Given the description of an element on the screen output the (x, y) to click on. 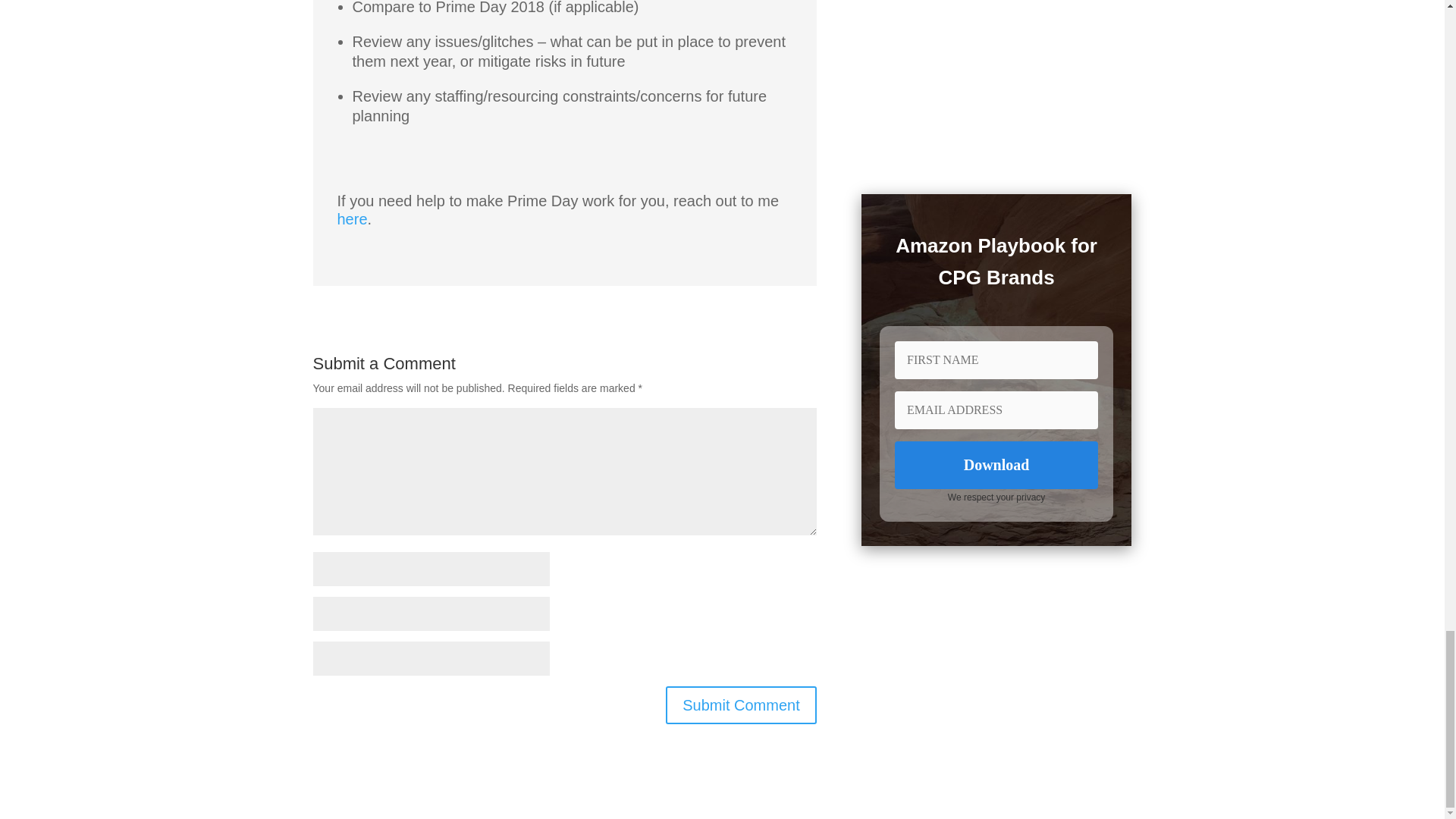
here (351, 218)
Submit Comment (740, 704)
Submit Comment (740, 704)
